Given the description of an element on the screen output the (x, y) to click on. 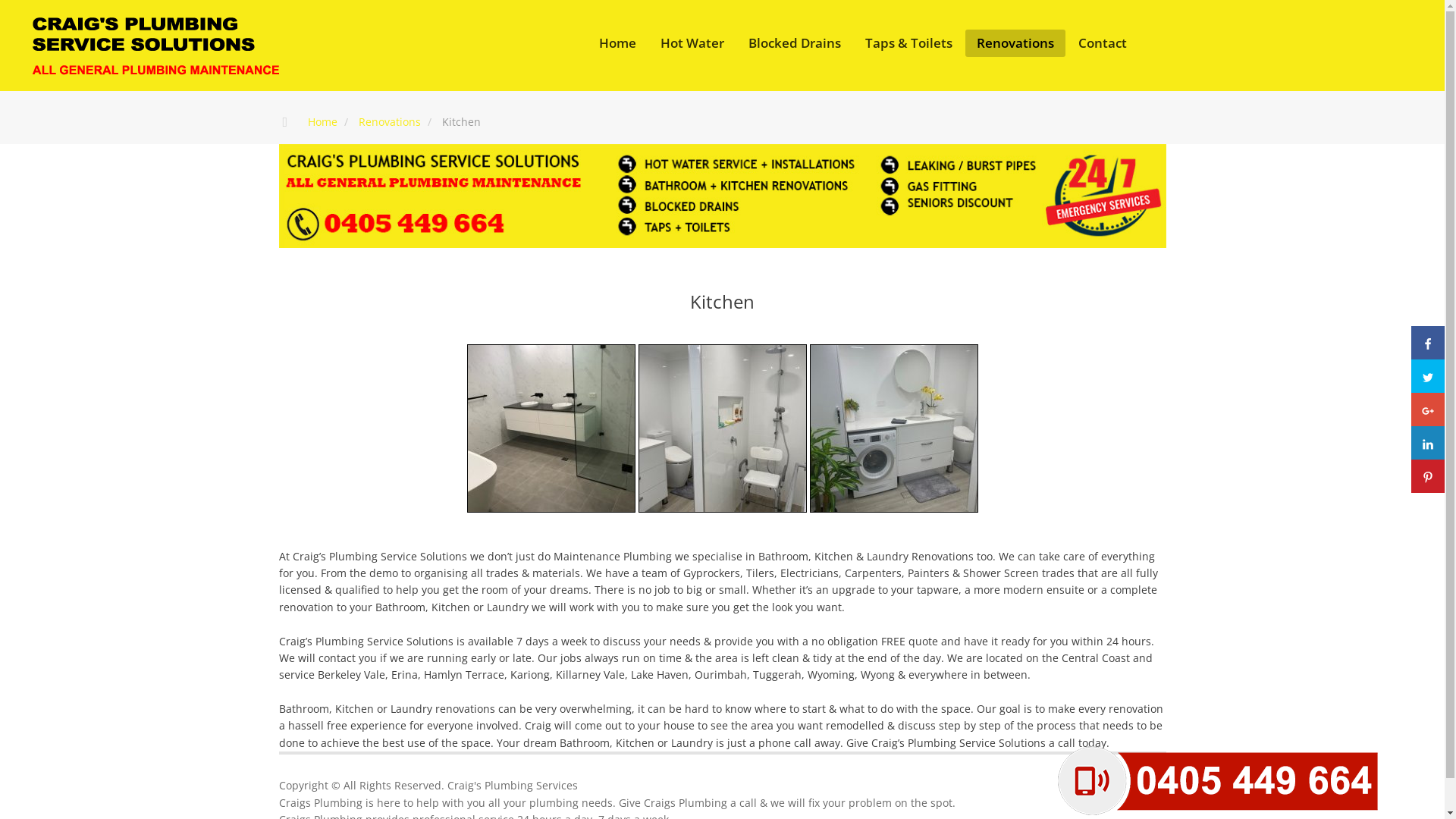
Taps & Toilets Element type: text (908, 42)
Home Element type: text (617, 42)
Hot Water Element type: text (692, 42)
Renovations Element type: text (1015, 42)
Home Element type: text (322, 121)
Blocked Drains Element type: text (794, 42)
Contact Element type: text (1102, 42)
Renovations Element type: text (388, 121)
